Given the description of an element on the screen output the (x, y) to click on. 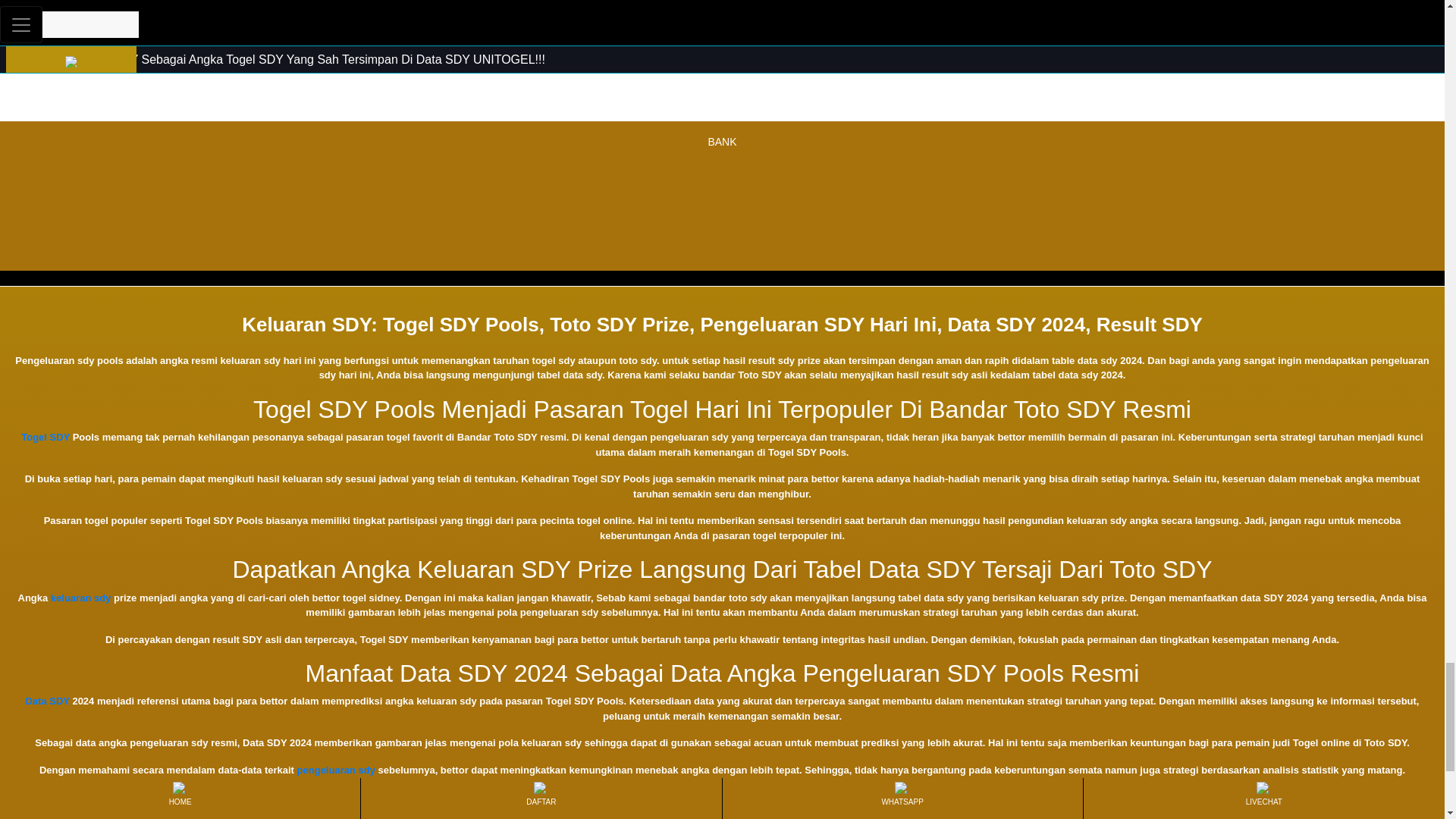
keluaran sdy (81, 597)
Togel SDY (45, 437)
pengeluaran sdy (336, 769)
Data SDY (47, 700)
